Given the description of an element on the screen output the (x, y) to click on. 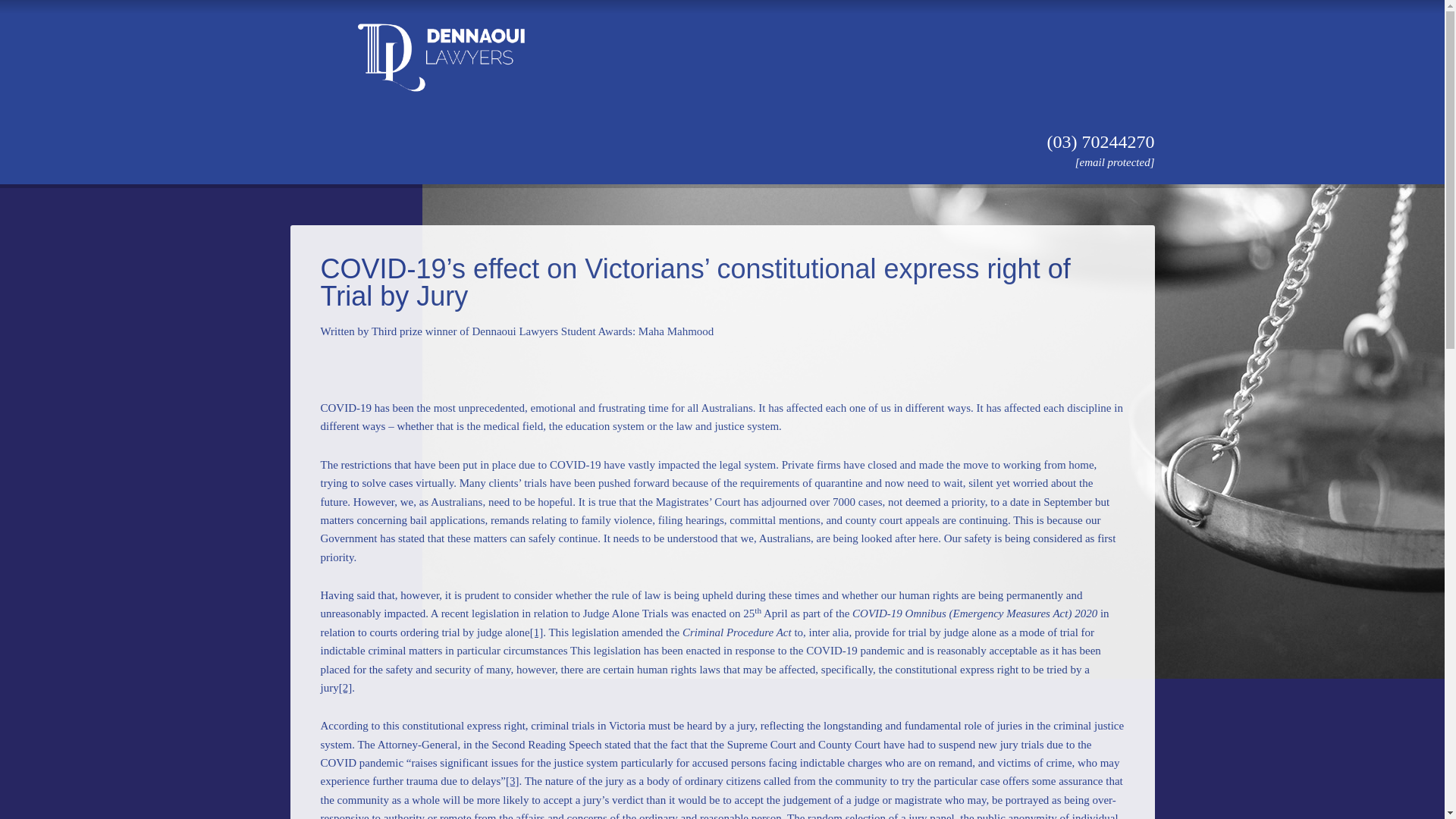
Reviews (751, 129)
Pay Your Legal Bill (860, 129)
About (462, 129)
Areas Of Practice (650, 129)
Contact Us (975, 129)
Blog (1048, 129)
Our People (540, 129)
Home (398, 129)
Dennaoui Lawyers (440, 141)
